Given the description of an element on the screen output the (x, y) to click on. 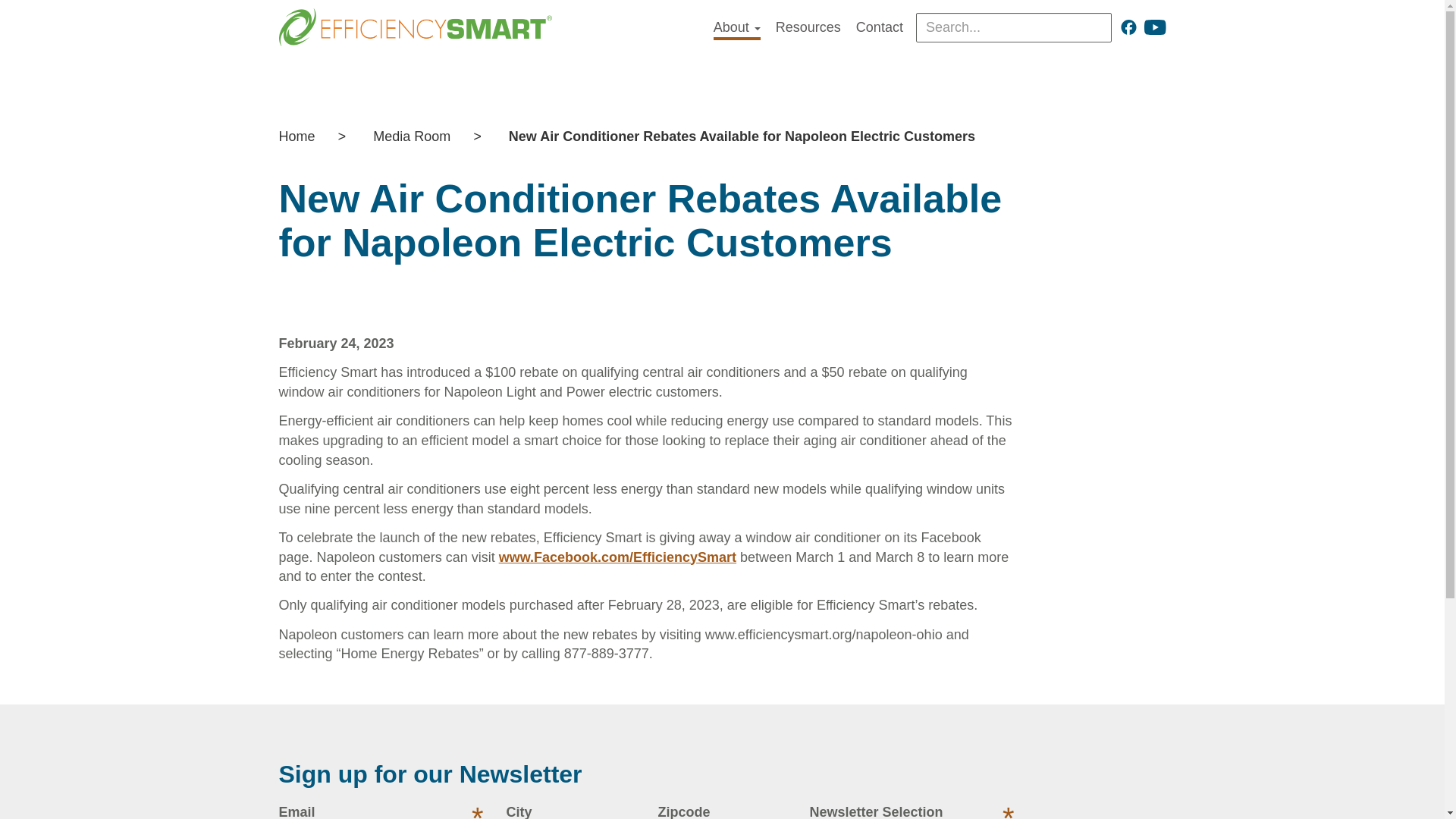
Media Room (411, 136)
Home (304, 136)
About (736, 29)
Resources (808, 27)
Contact (879, 27)
